Given the description of an element on the screen output the (x, y) to click on. 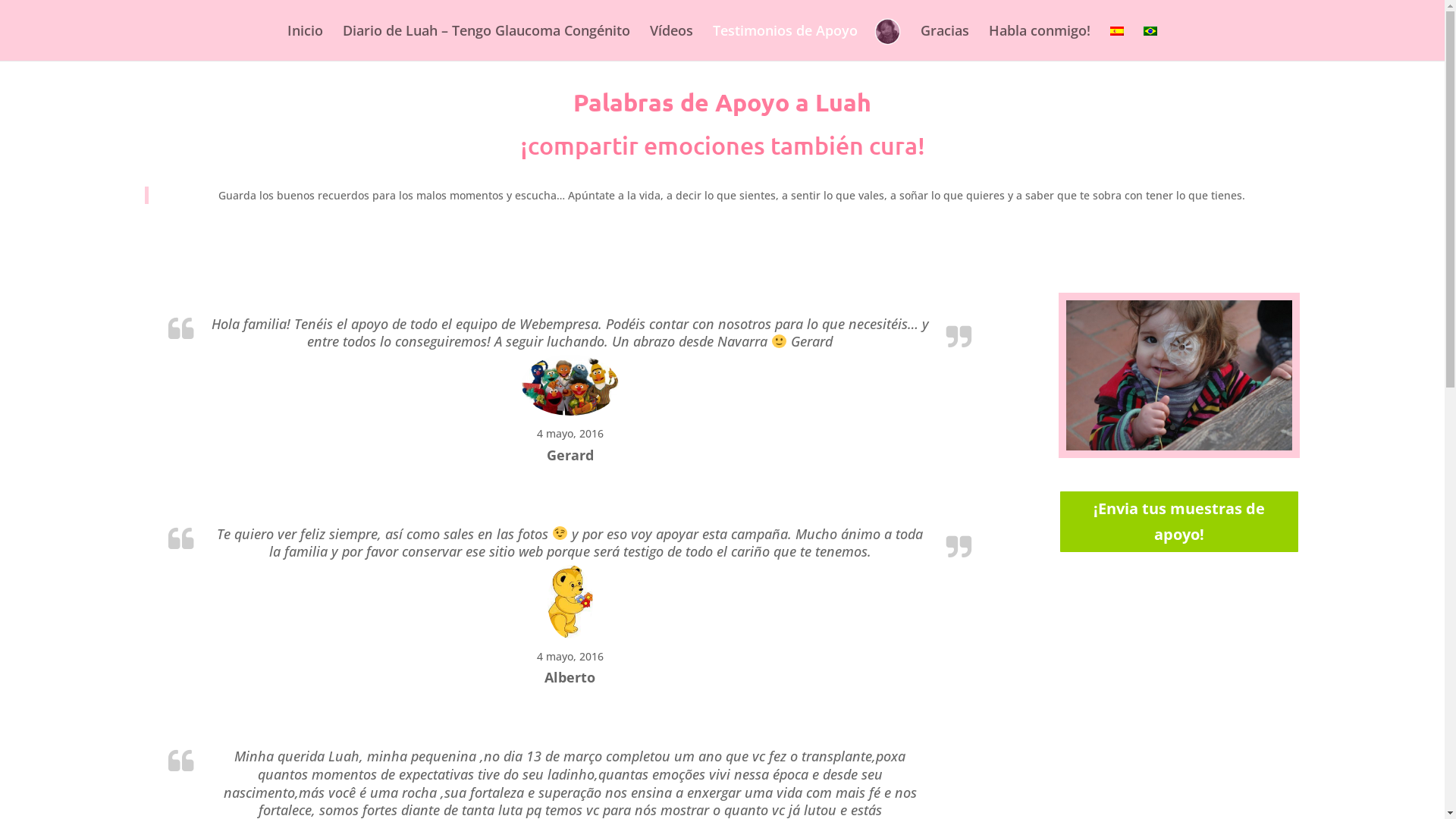
Inicio Element type: text (305, 42)
4 Element type: text (1198, 426)
Testimonios de Apoyo Element type: text (784, 42)
1 Element type: text (1159, 426)
2 Element type: text (1172, 426)
3 Element type: text (1185, 426)
Luah-Lucas_023 Element type: hover (1179, 446)
Gracias Element type: text (944, 42)
Habla conmigo! Element type: text (1039, 42)
